Given the description of an element on the screen output the (x, y) to click on. 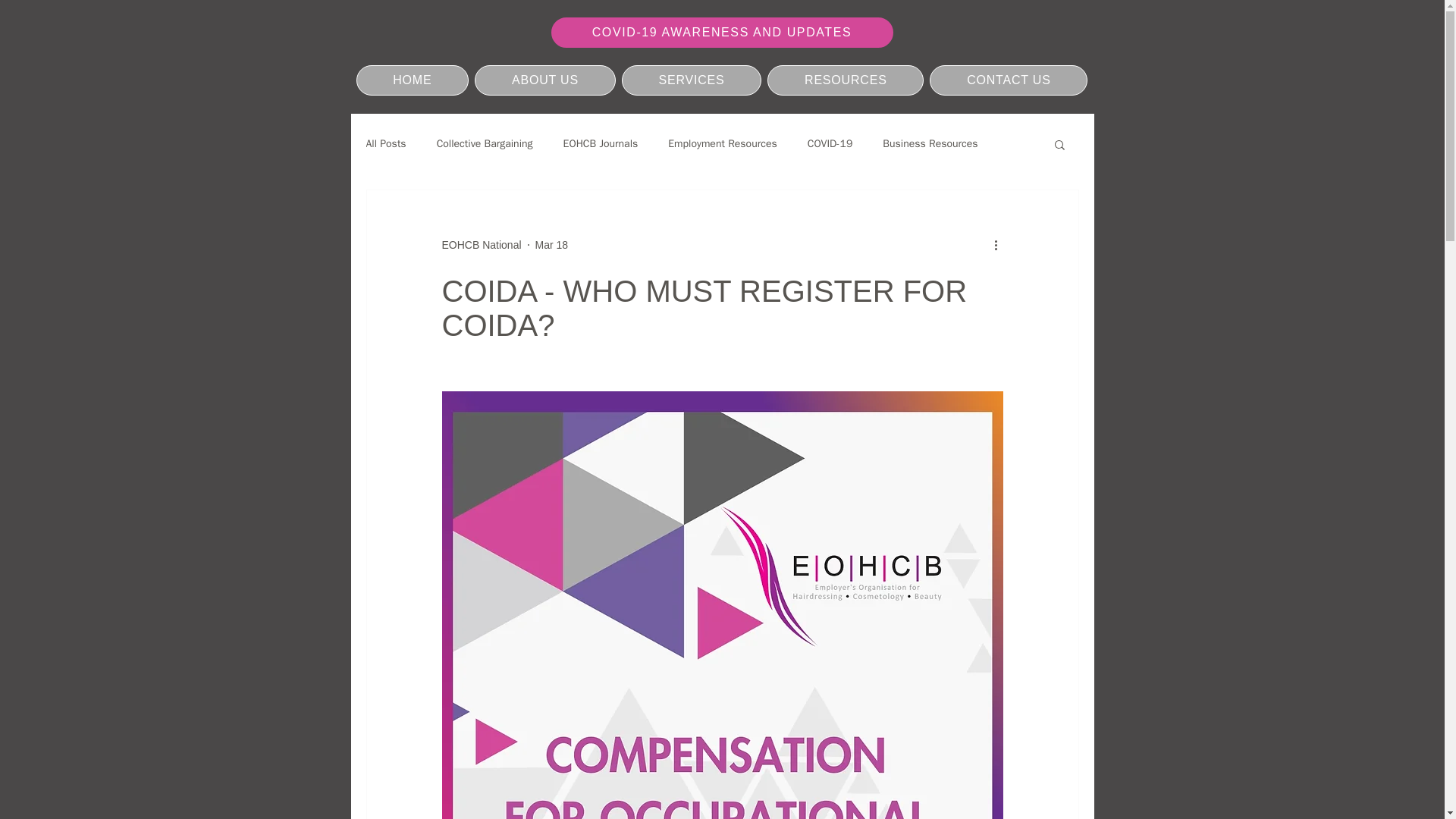
SERVICES (691, 80)
HOME (412, 80)
Collective Bargaining (484, 143)
COVID-19 (830, 143)
EOHCB National (481, 244)
Mar 18 (552, 244)
CONTACT US (1008, 80)
Business Resources (929, 143)
EOHCB National (481, 244)
ABOUT US (544, 80)
RESOURCES (845, 80)
EOHCB Journals (601, 143)
COVID-19 AWARENESS AND UPDATES (721, 32)
All Posts (385, 143)
Employment Resources (722, 143)
